Given the description of an element on the screen output the (x, y) to click on. 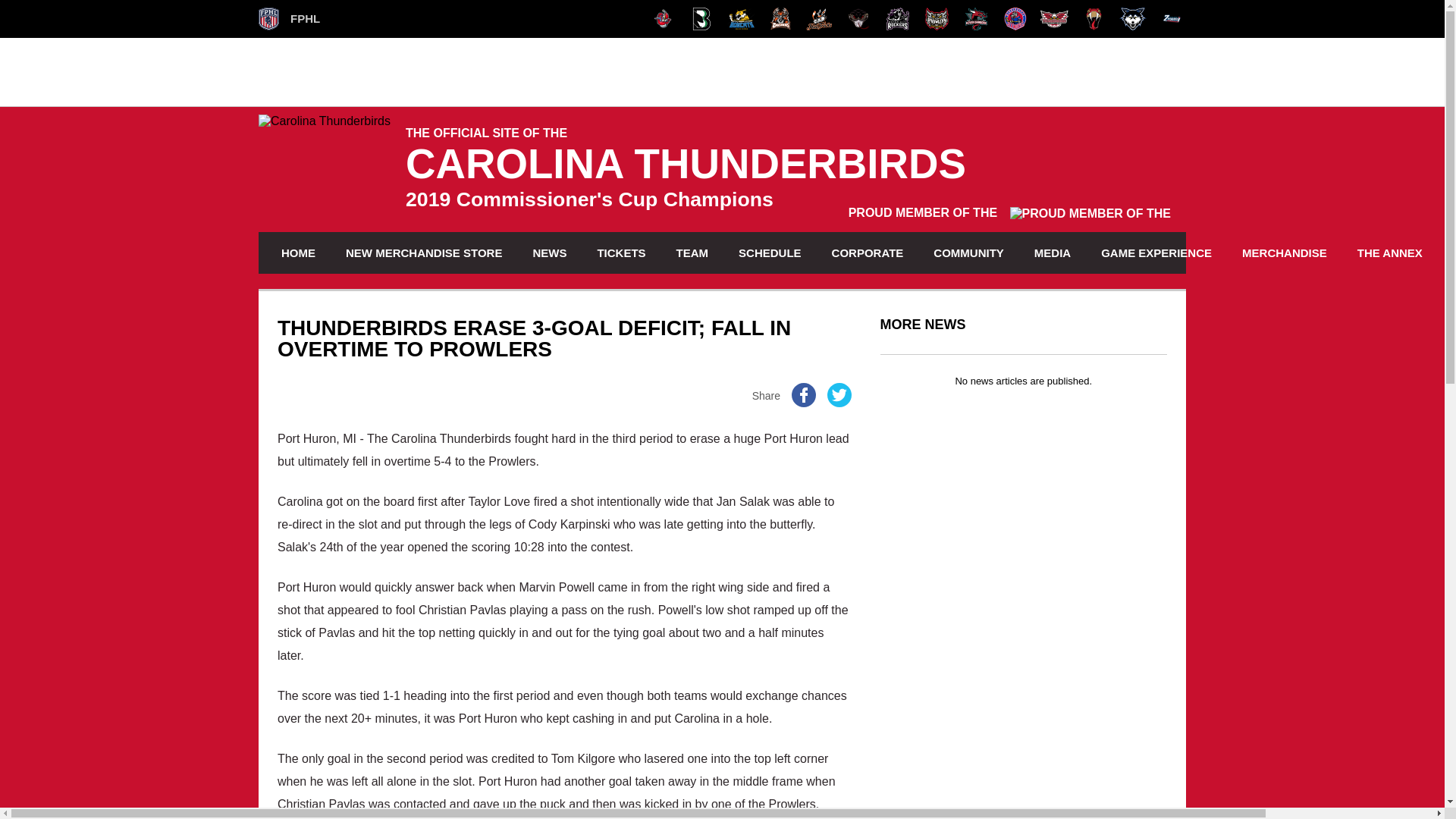
PROUD MEMBER OF THE (1009, 212)
FPHL (289, 18)
NEW MERCHANDISE STORE (423, 252)
HOME (297, 252)
NEWS (549, 252)
